Given the description of an element on the screen output the (x, y) to click on. 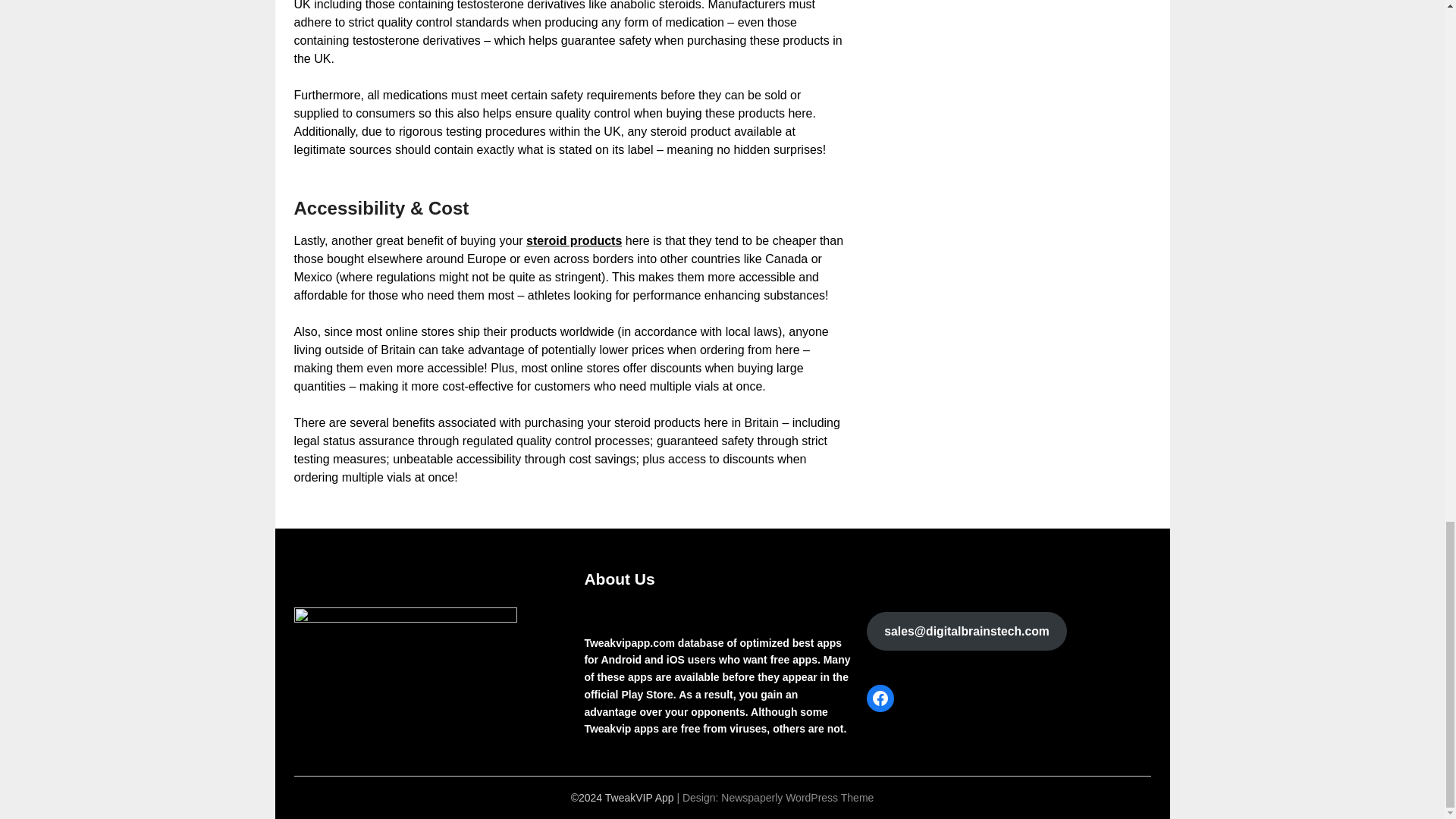
Newspaperly WordPress Theme (796, 797)
Facebook (879, 697)
steroid products (573, 240)
